Given the description of an element on the screen output the (x, y) to click on. 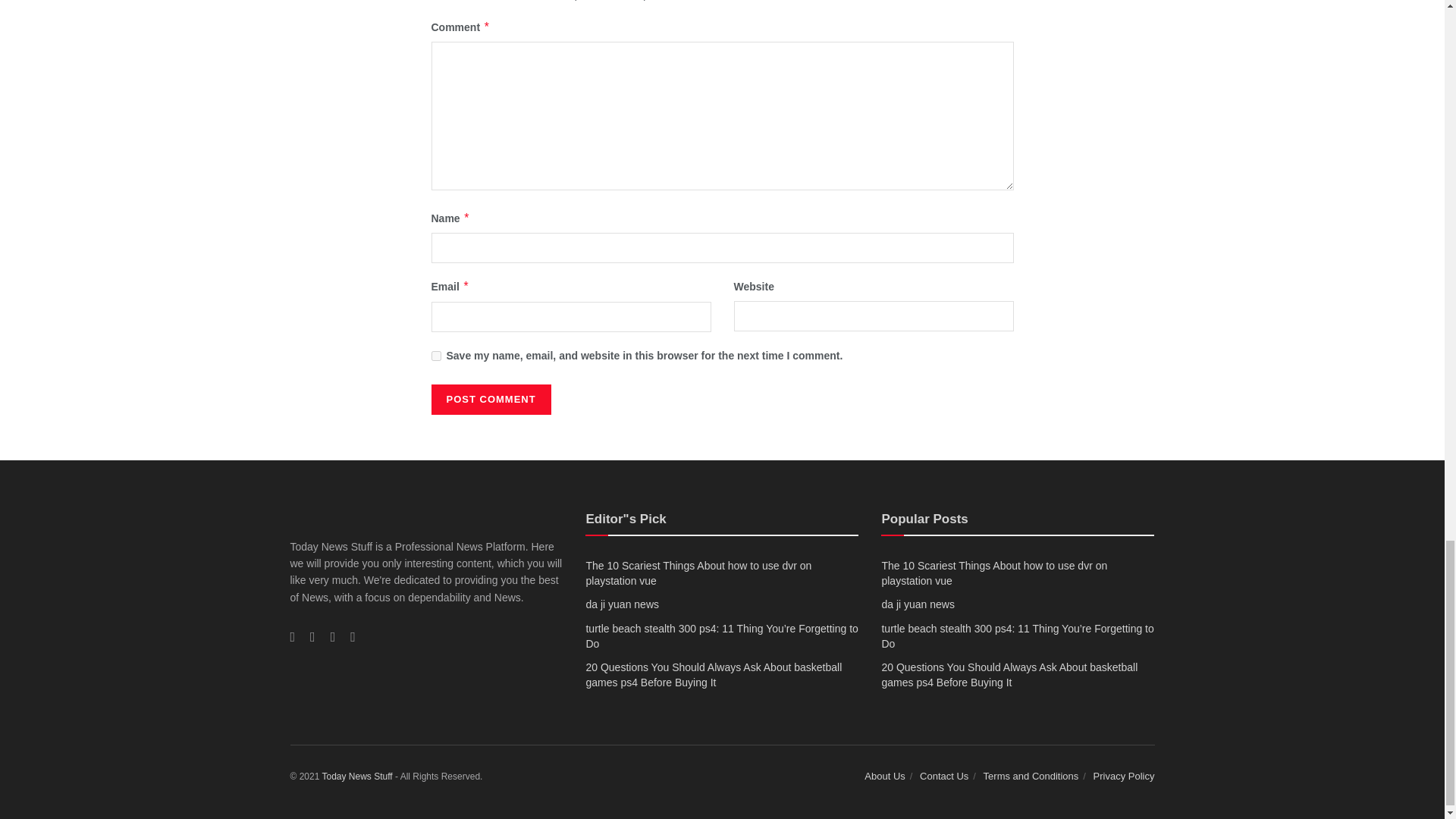
yes (435, 356)
Post Comment (490, 399)
